Given the description of an element on the screen output the (x, y) to click on. 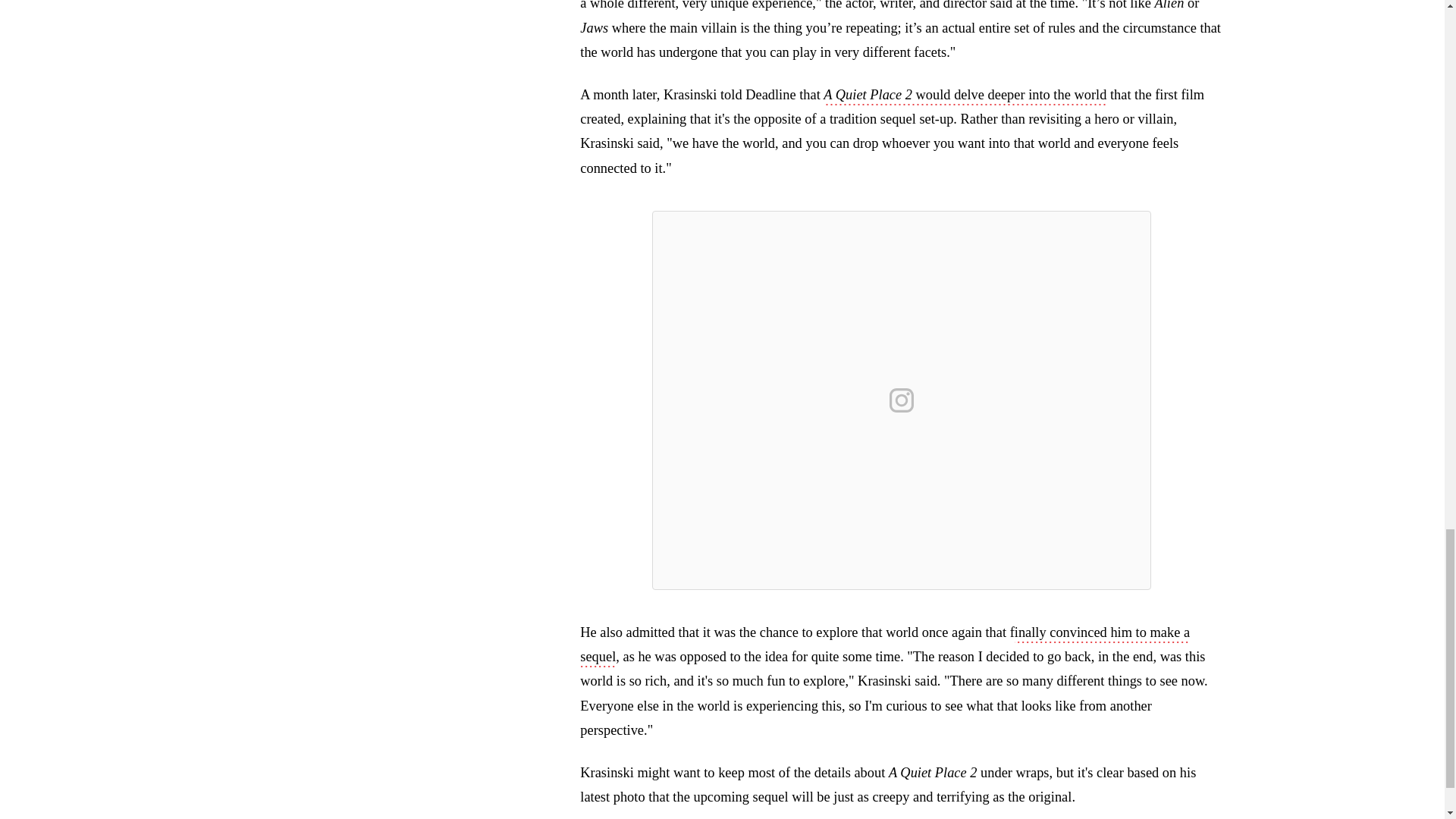
A Quiet Place 2 would delve deeper into the world (965, 95)
inally convinced him to make a sequel (884, 645)
View on Instagram (901, 400)
